Given the description of an element on the screen output the (x, y) to click on. 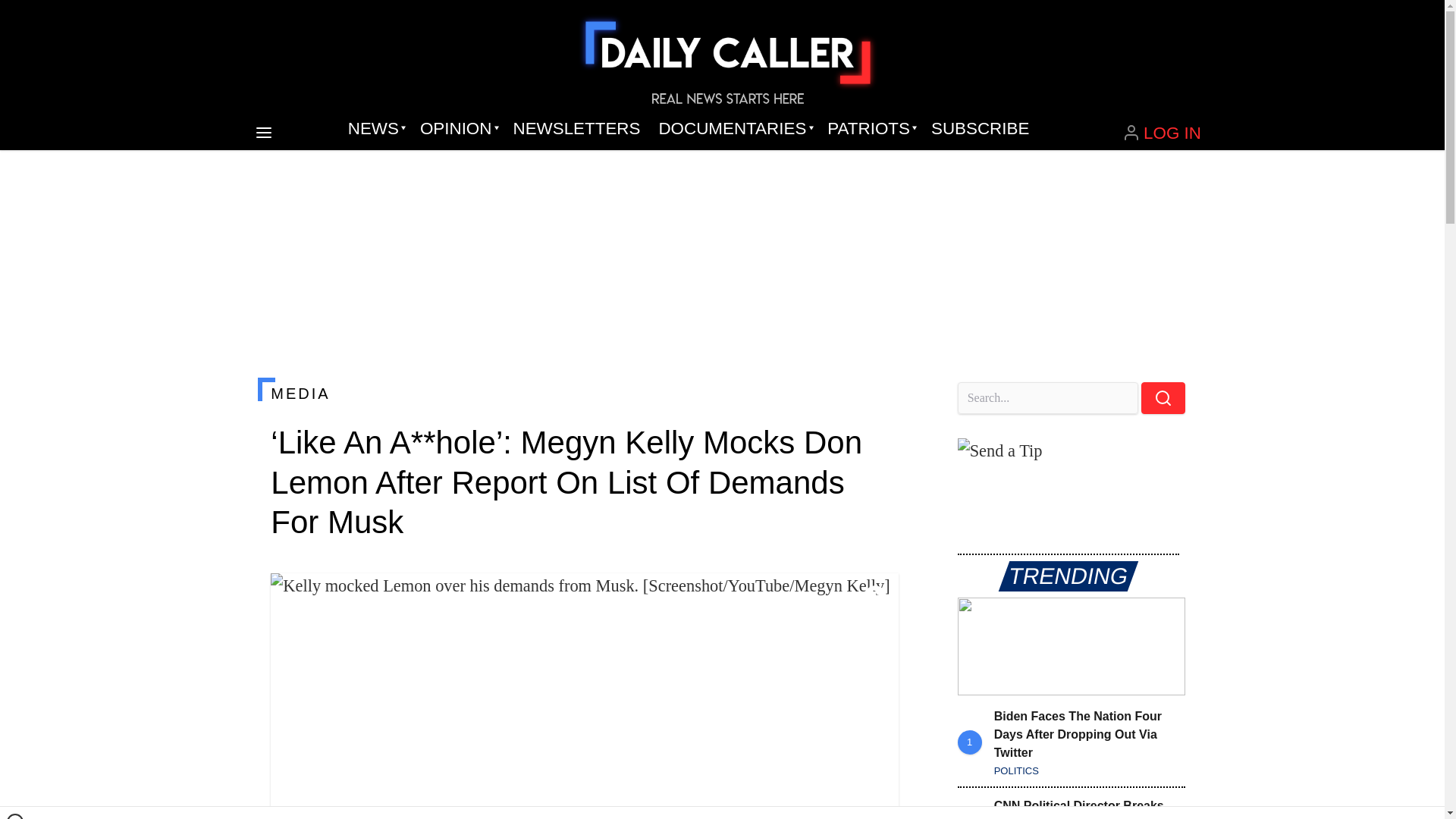
NEWSLETTERS (576, 128)
DOCUMENTARIES (733, 128)
MEDIA (584, 393)
NEWS (374, 128)
Close window (14, 816)
Toggle fullscreen (874, 596)
OPINION (456, 128)
PATRIOTS (869, 128)
SUBSCRIBE (979, 128)
